Given the description of an element on the screen output the (x, y) to click on. 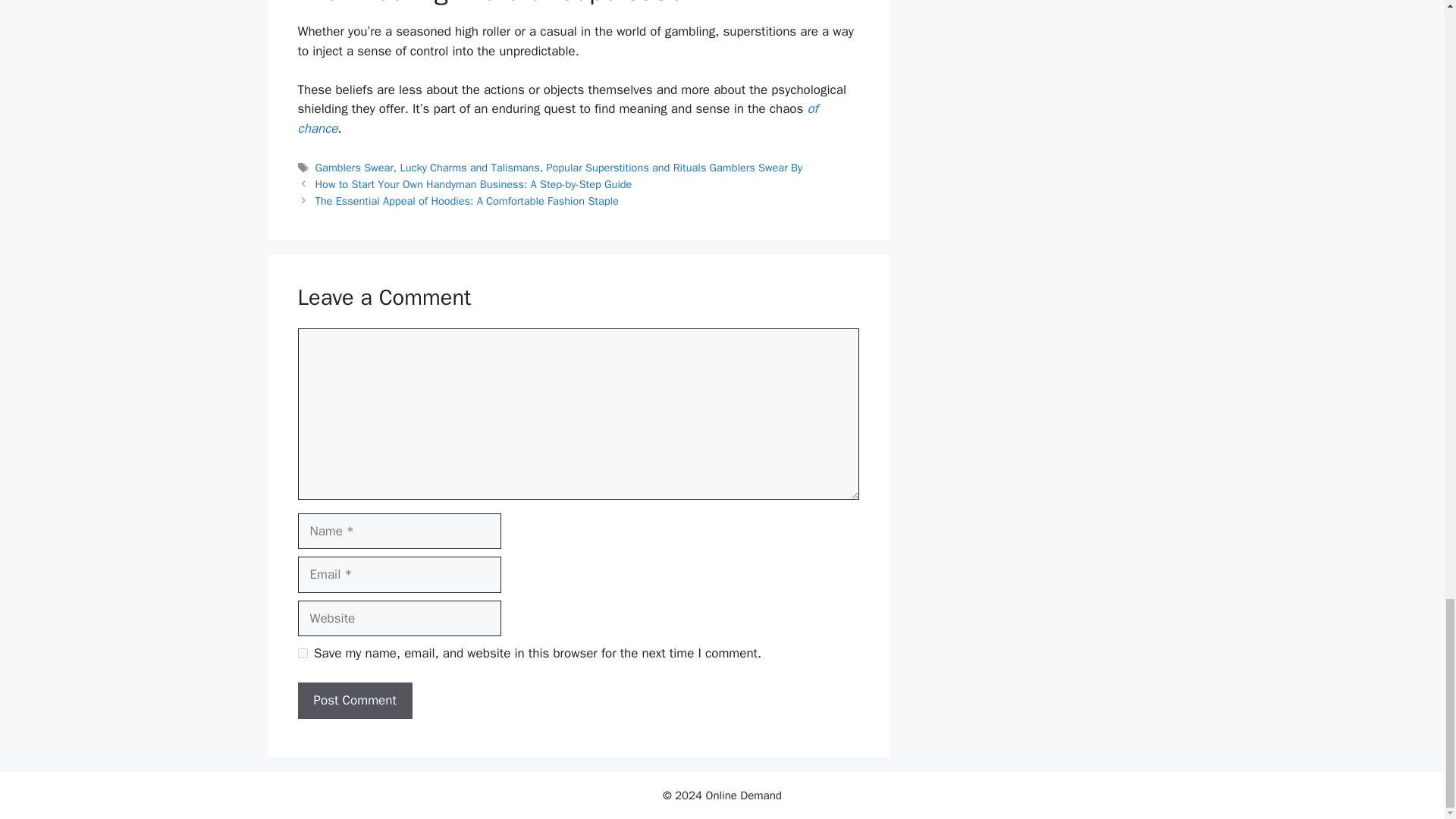
Post Comment (354, 700)
yes (302, 653)
Gamblers Swear (354, 167)
of chance (556, 118)
Popular Superstitions and Rituals Gamblers Swear By (674, 167)
Lucky Charms and Talismans (470, 167)
Post Comment (354, 700)
